Given the description of an element on the screen output the (x, y) to click on. 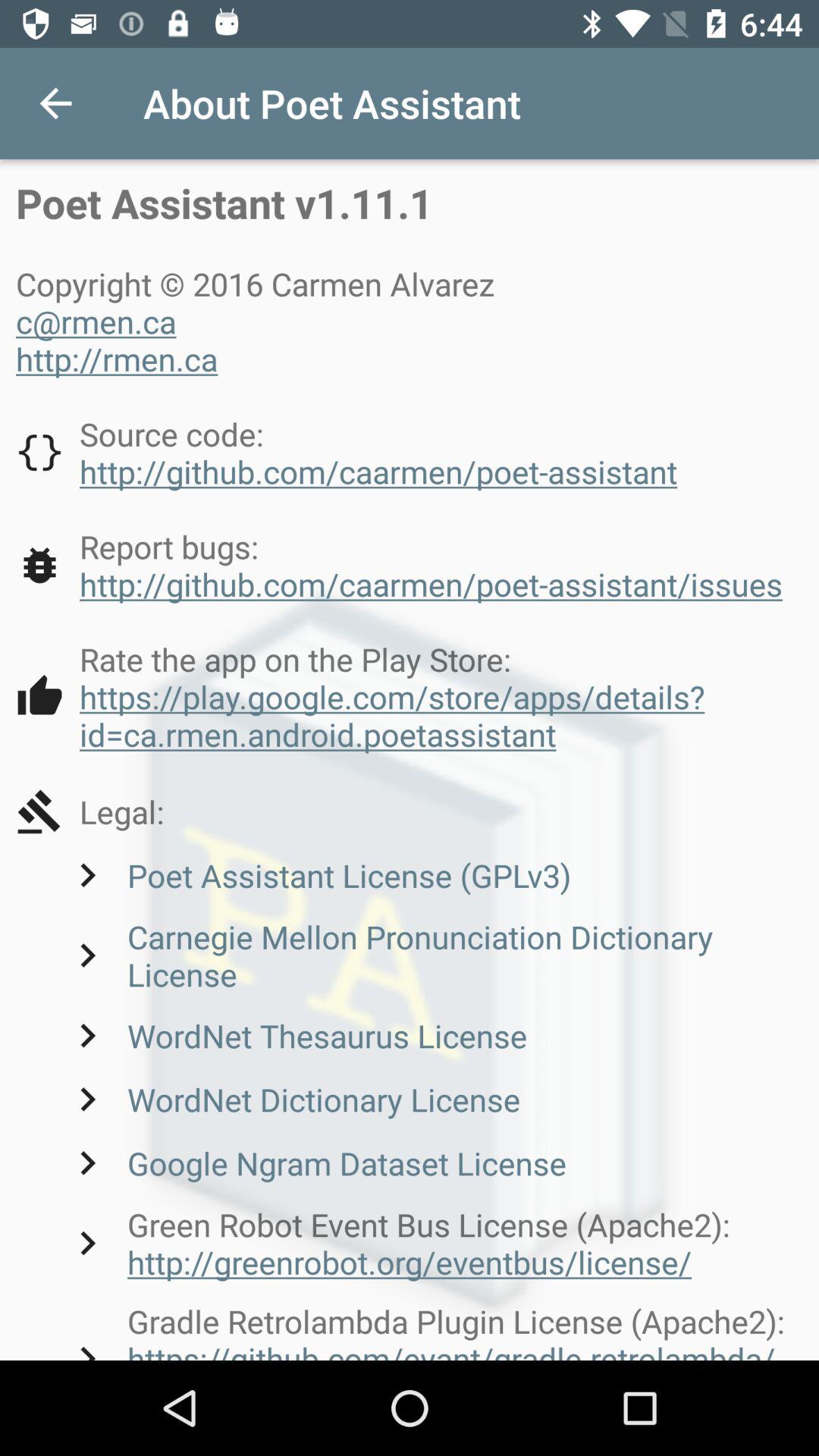
press item below google ngram dataset item (433, 1242)
